Given the description of an element on the screen output the (x, y) to click on. 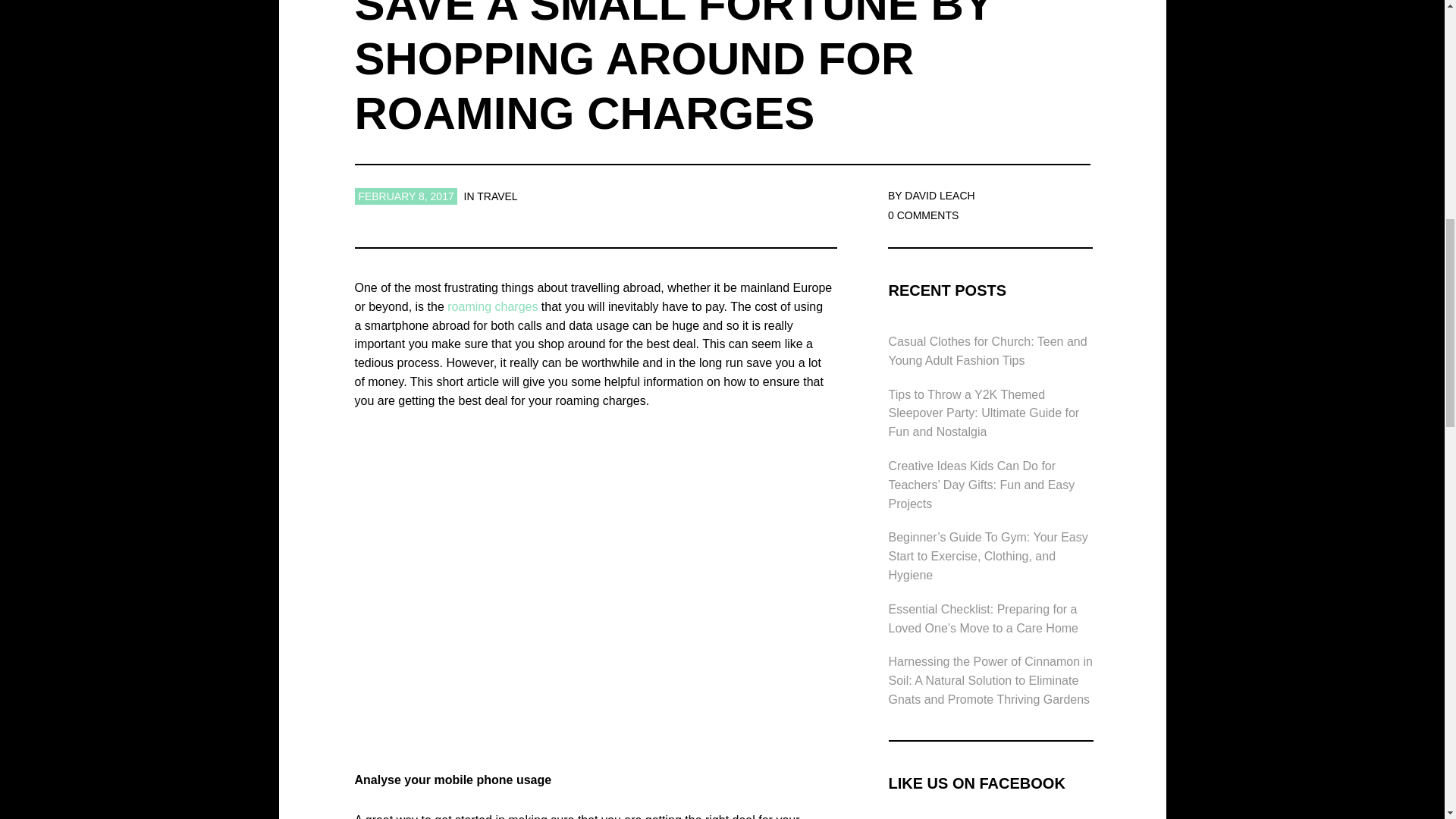
roaming charges (491, 306)
DAVID LEACH (939, 195)
TRAVEL (496, 196)
Casual Clothes for Church: Teen and Young Adult Fashion Tips (987, 350)
